Given the description of an element on the screen output the (x, y) to click on. 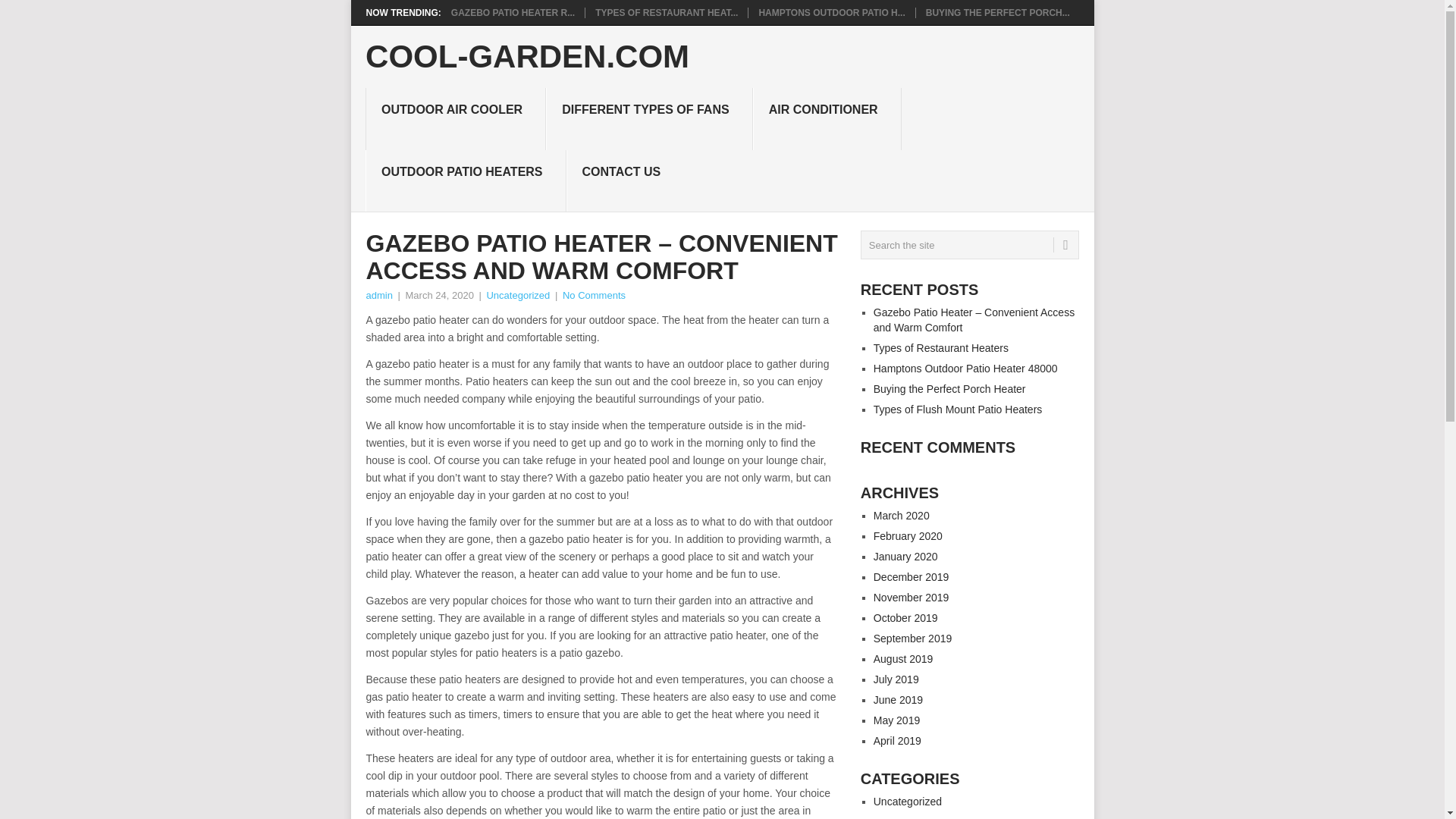
AIR CONDITIONER (826, 118)
Types of Restaurant Heaters (666, 12)
DIFFERENT TYPES OF FANS (649, 118)
January 2020 (905, 556)
September 2019 (912, 638)
Buying the Perfect Porch Heater (949, 388)
GAZEBO PATIO HEATER R... (513, 12)
CONTACT US (625, 180)
HAMPTONS OUTDOOR PATIO H... (831, 12)
Uncategorized (518, 295)
November 2019 (911, 597)
May 2019 (896, 720)
June 2019 (898, 699)
December 2019 (911, 576)
TYPES OF RESTAURANT HEAT... (666, 12)
